Given the description of an element on the screen output the (x, y) to click on. 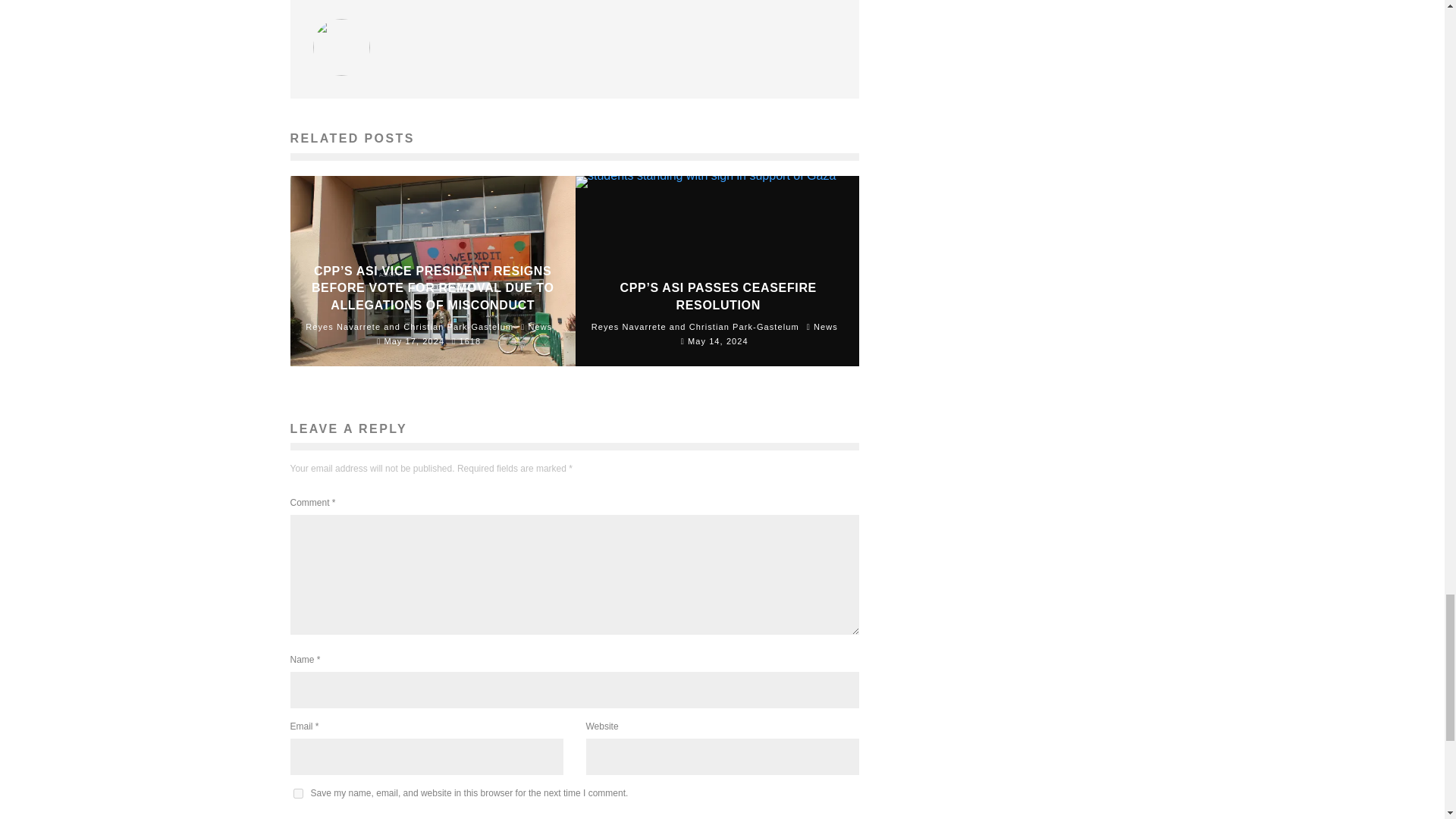
Posts by Christian Park-Gastelum (458, 326)
Posts by Christian Park-Gastelum (743, 326)
Posts by Reyes Navarrete (628, 326)
yes (297, 793)
Posts by Reyes Navarrete (342, 326)
